Given the description of an element on the screen output the (x, y) to click on. 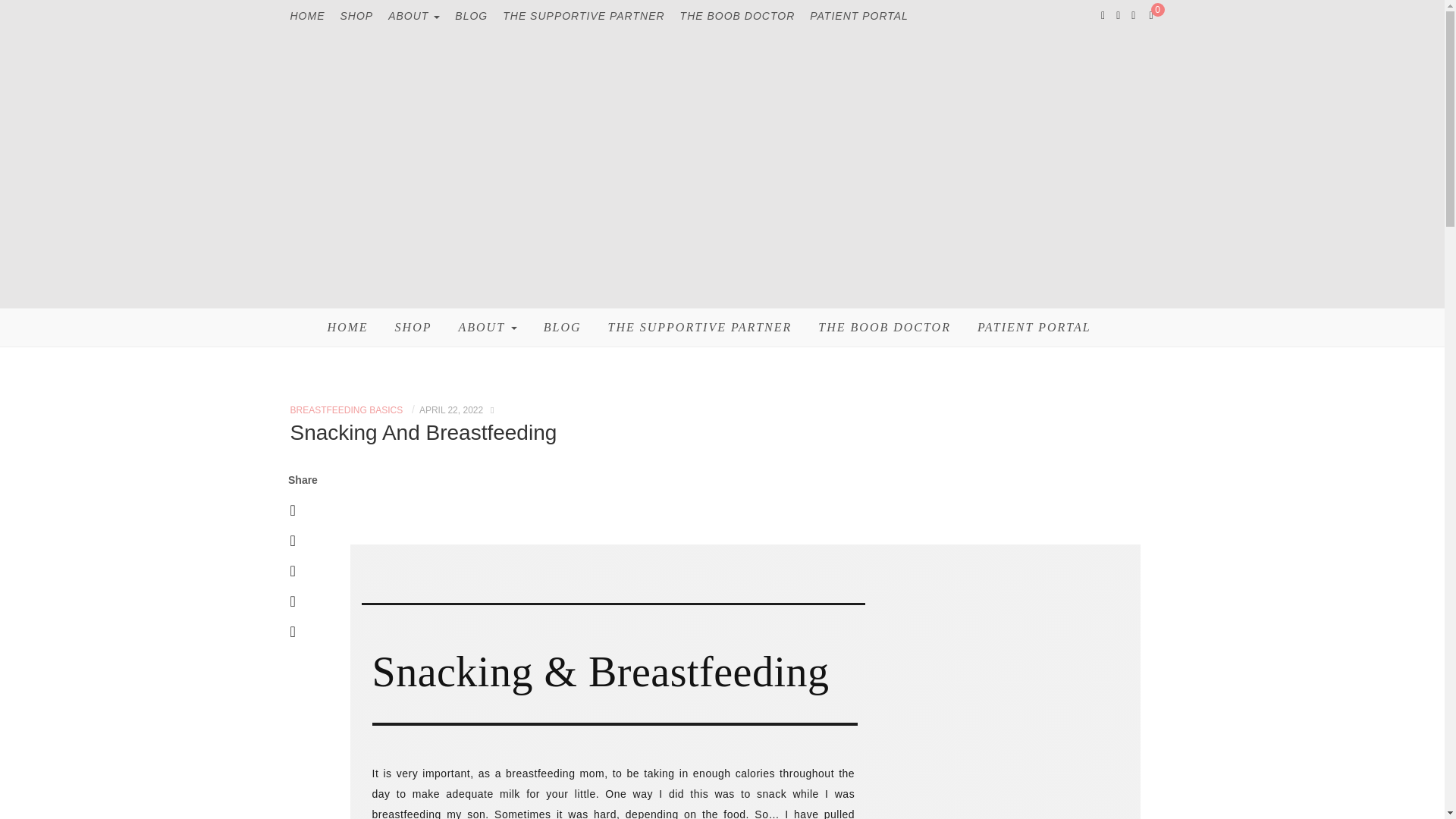
PATIENT PORTAL (1033, 327)
THE BOOB DOCTOR (736, 15)
SHOP (355, 15)
SHOP (413, 327)
BLOG (561, 327)
THE BOOB DOCTOR (884, 327)
BREASTFEEDING BASICS (346, 409)
THE SUPPORTIVE PARTNER (582, 15)
APRIL 22, 2022 (451, 409)
THE SUPPORTIVE PARTNER (700, 327)
